Given the description of an element on the screen output the (x, y) to click on. 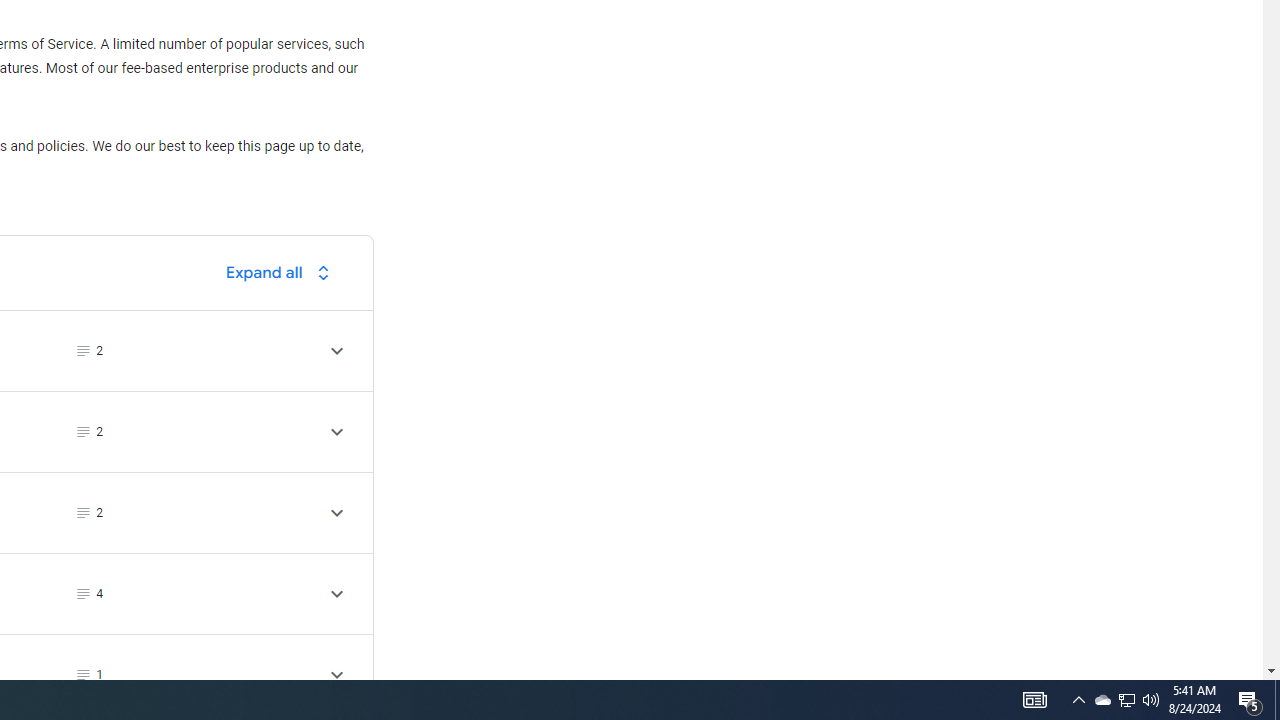
Expand all (283, 272)
